Given the description of an element on the screen output the (x, y) to click on. 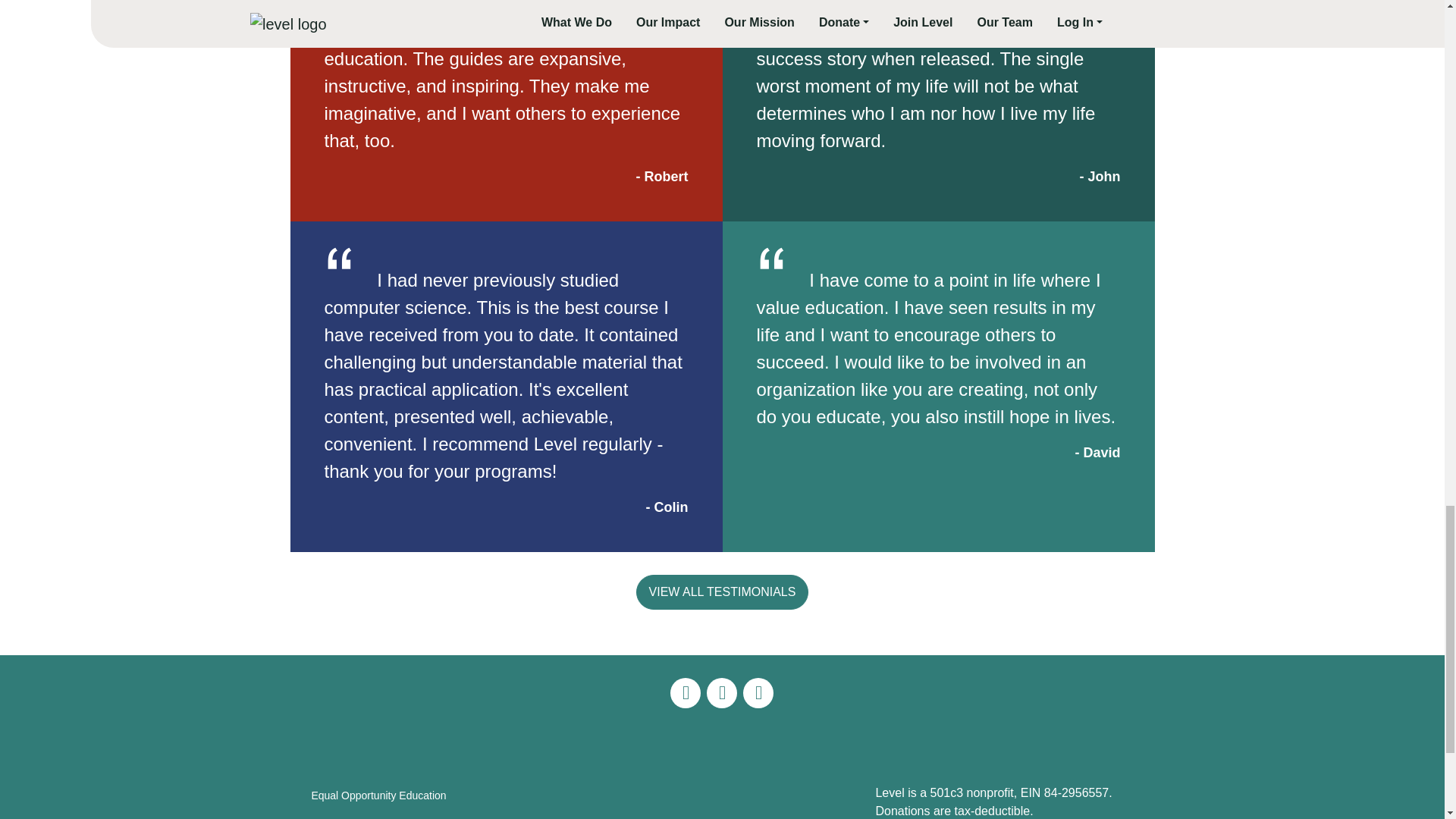
VIEW ALL TESTIMONIALS (722, 591)
